Given the description of an element on the screen output the (x, y) to click on. 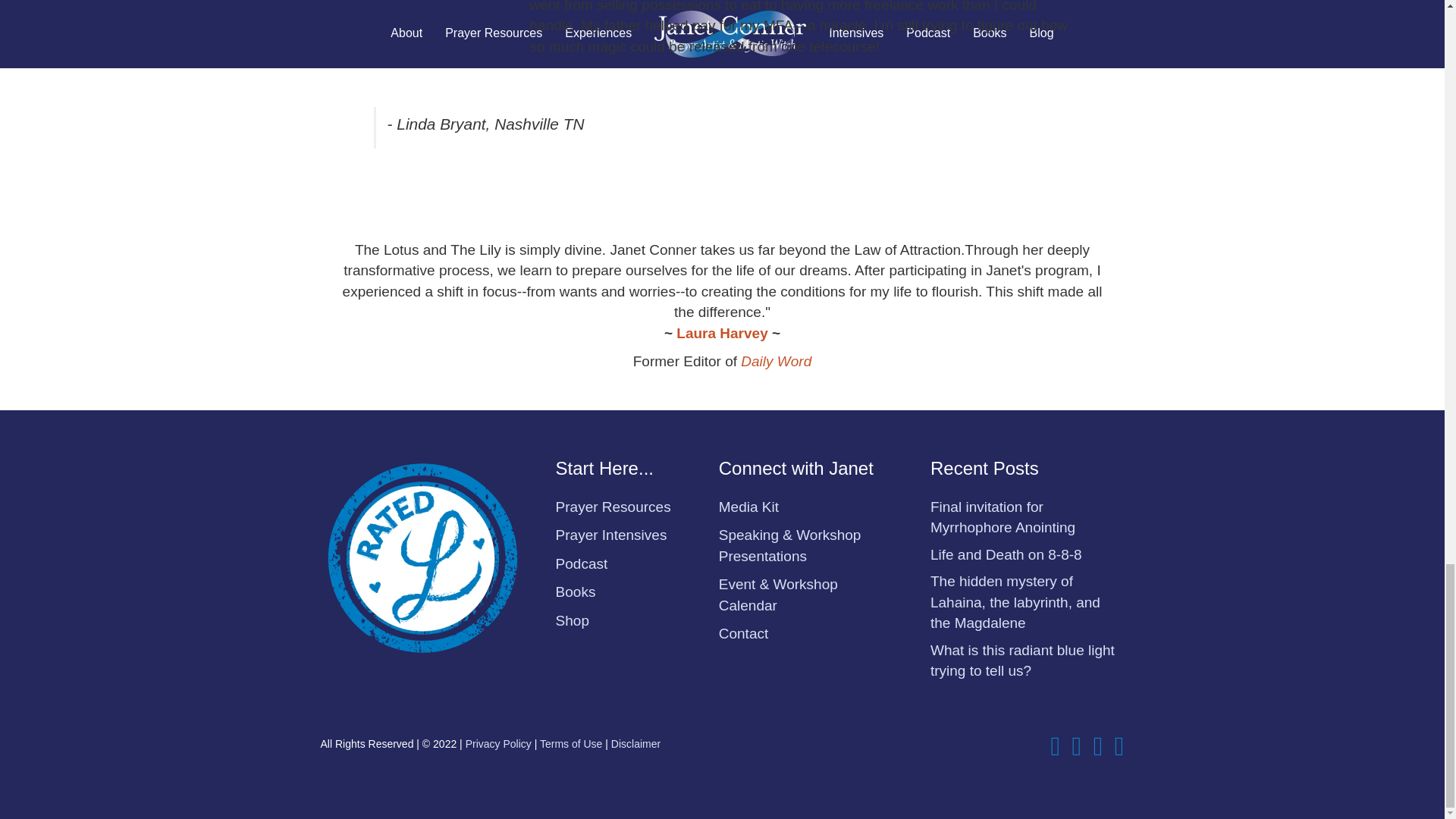
Media Kit (748, 506)
Life and Death on 8-8-8 (1005, 554)
Prayer Resources (613, 506)
Contact (743, 633)
Shop (572, 620)
Prayer Intensives (611, 534)
Final invitation for Myrrhophore Anointing (1002, 517)
Daily Word (775, 360)
Terms of Use (571, 743)
rated l (422, 557)
